Given the description of an element on the screen output the (x, y) to click on. 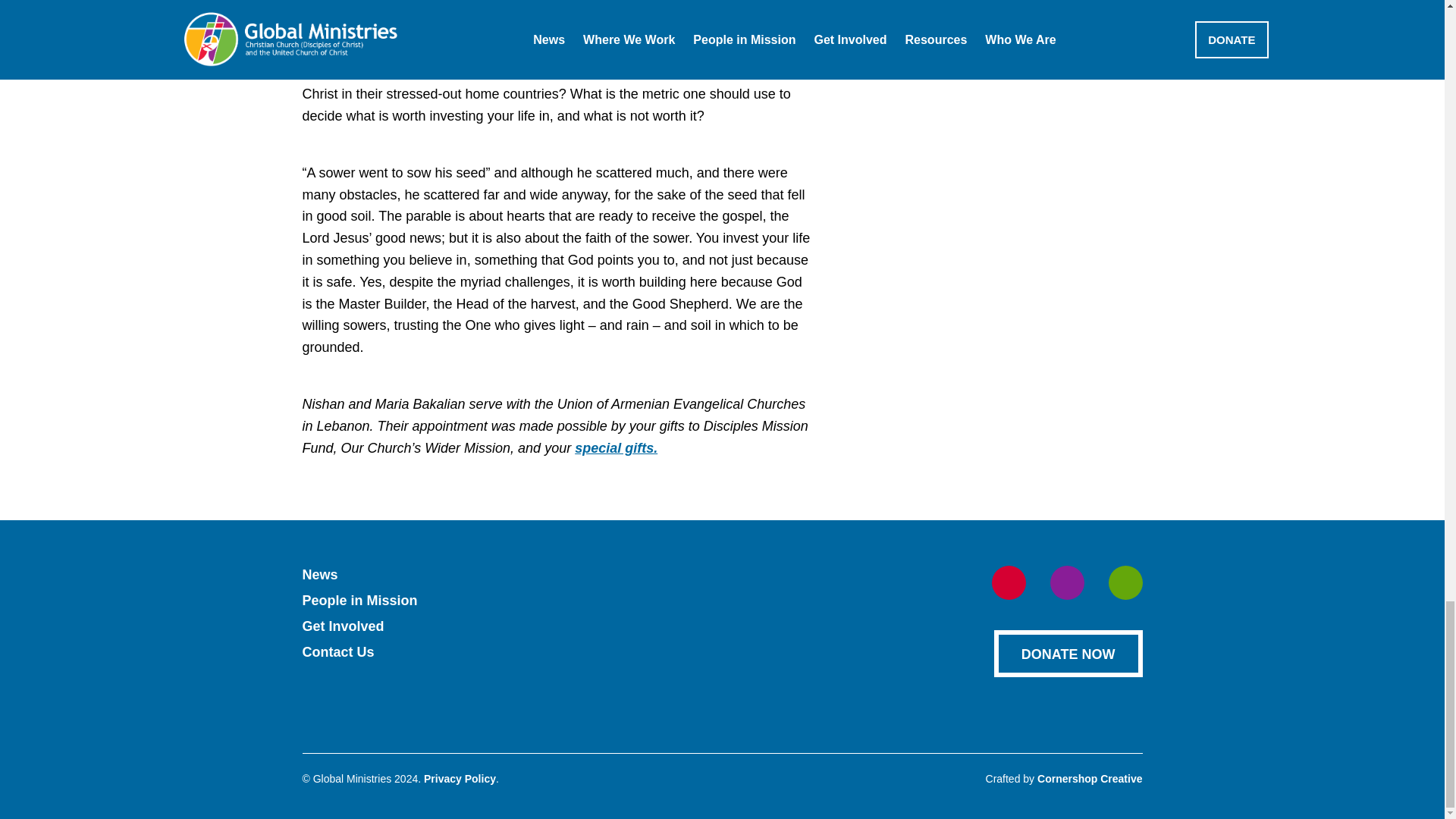
Follow us on Facebook (1008, 582)
Follow us on Twitter (1066, 582)
Follow us on Vimeo (1125, 582)
